Given the description of an element on the screen output the (x, y) to click on. 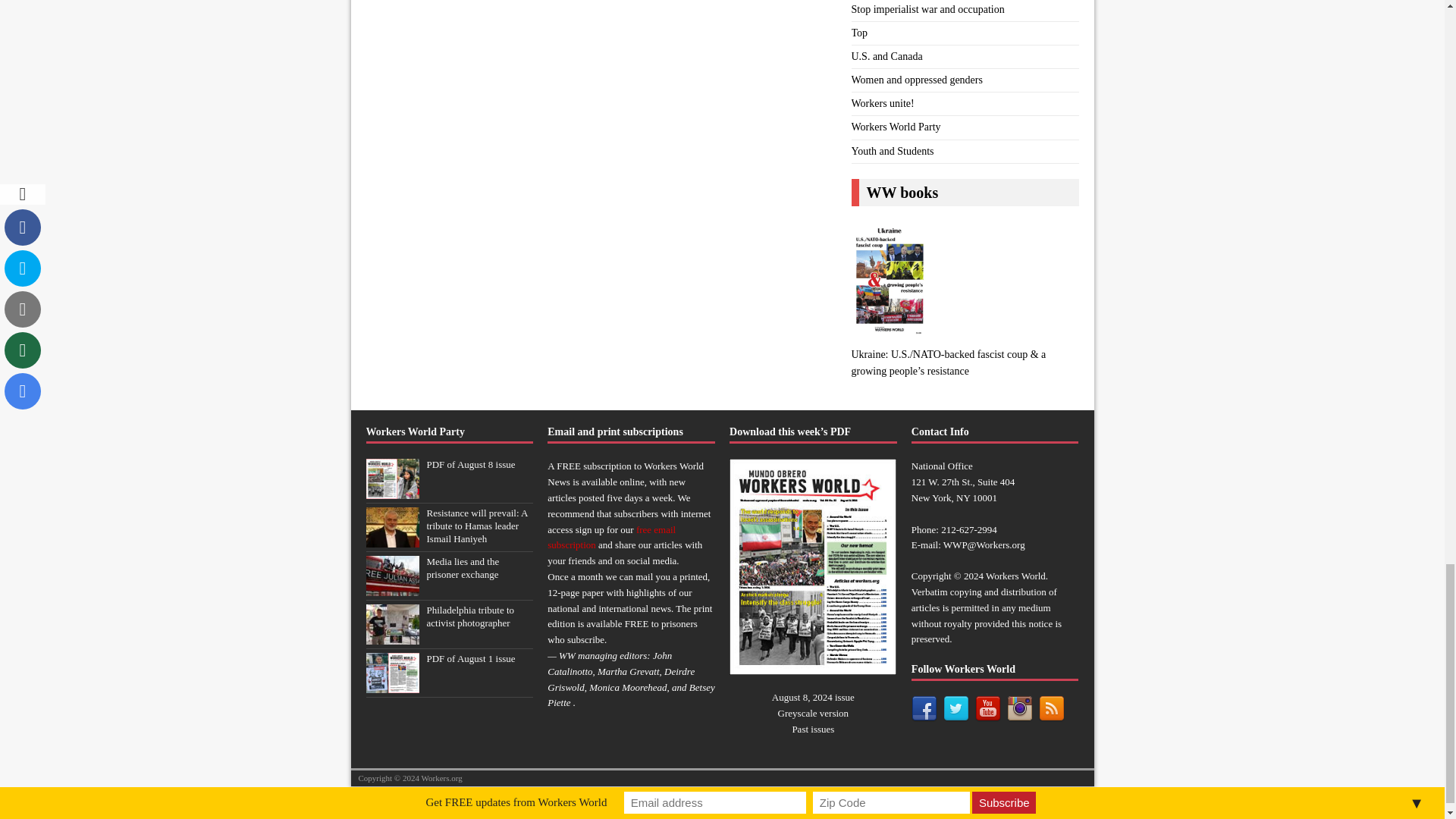
PDF of August 1 issue (470, 658)
Philadelphia tribute to activist photographer (392, 636)
PDF of August 8 issue (470, 464)
Philadelphia tribute to activist photographer (469, 616)
Media lies and the prisoner exchange (462, 567)
Media lies and the prisoner exchange (392, 587)
PDF of August 8 issue (392, 490)
PDF of August 1 issue (392, 685)
